Given the description of an element on the screen output the (x, y) to click on. 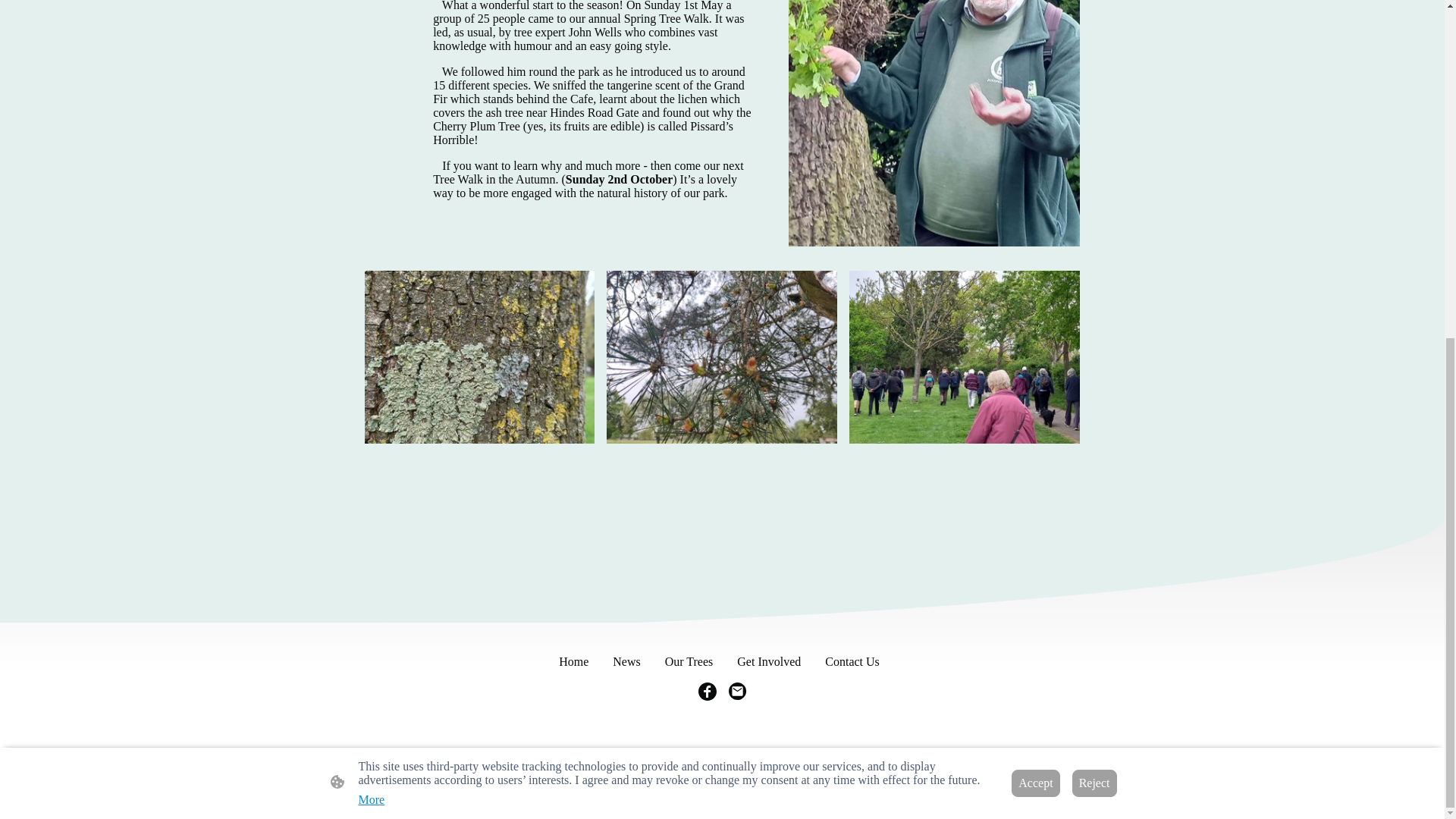
Reject (1093, 213)
Our Trees (689, 661)
More (371, 230)
Accept (1035, 213)
Home (573, 661)
Contact Us (851, 661)
News (626, 661)
Get Involved (768, 661)
